Given the description of an element on the screen output the (x, y) to click on. 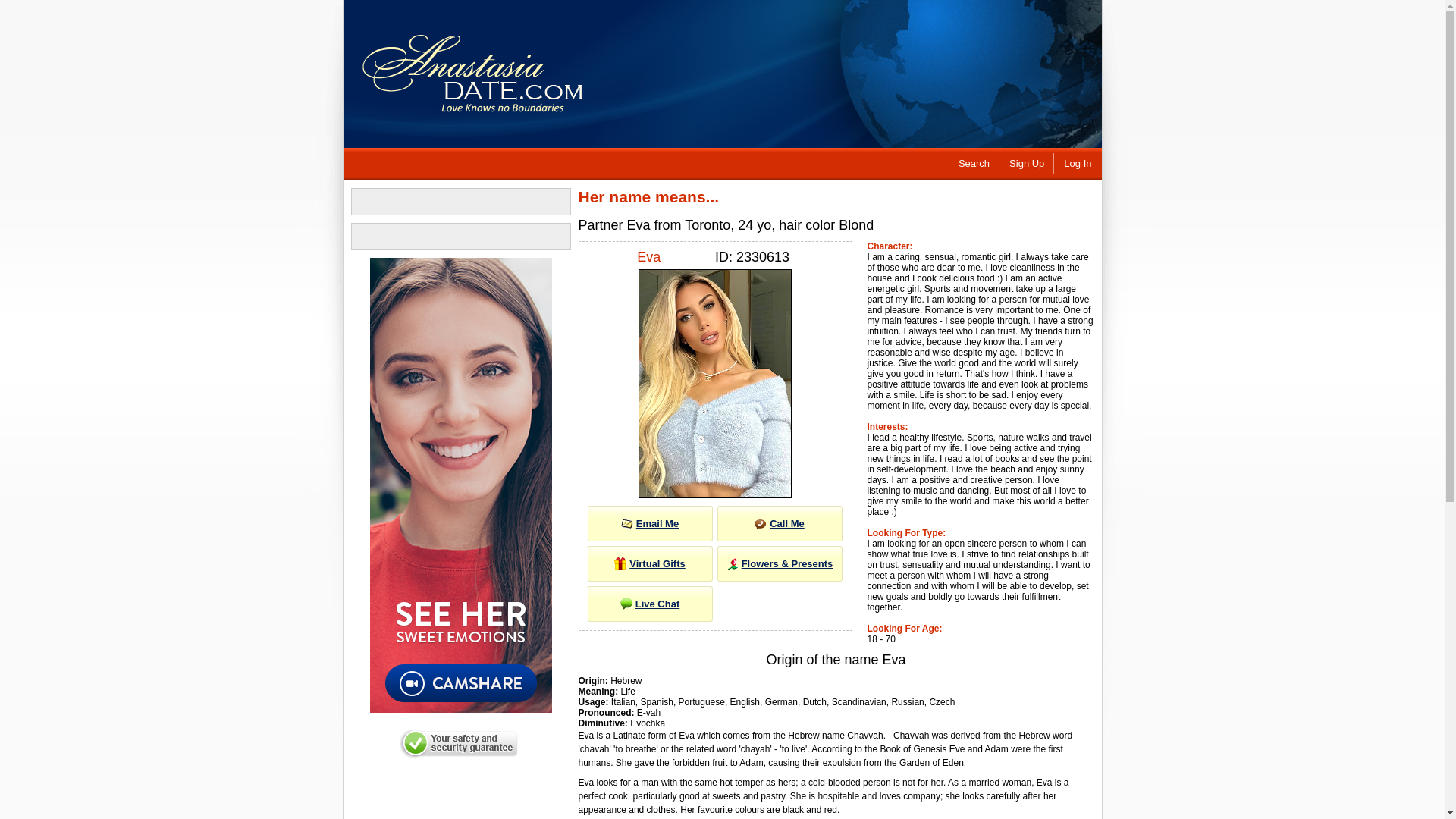
Call Eva (779, 523)
Call Me (779, 523)
Sign Up (1026, 163)
Send a letter to Eva via AnastasiaDate mailing system (649, 523)
Search (974, 163)
Email Me (649, 523)
Virtual Gifts (649, 563)
Live Chat (649, 603)
Send virtual gift to Eva (649, 563)
Live Chat with Eva (649, 603)
